Given the description of an element on the screen output the (x, y) to click on. 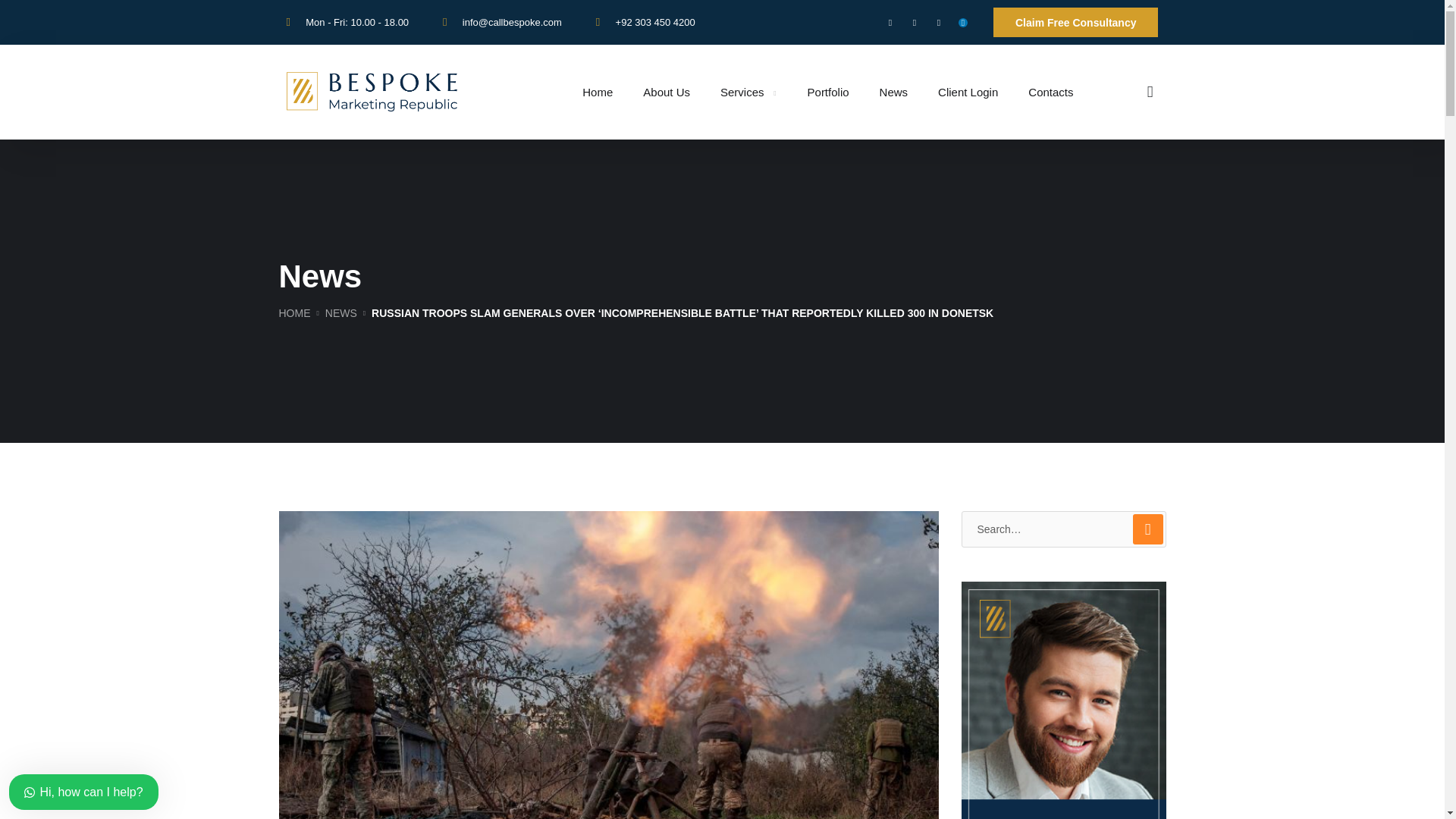
News (893, 92)
Home (597, 92)
Contacts (1050, 92)
Services (748, 92)
Client Login (967, 92)
Portfolio (828, 92)
About Us (666, 92)
Claim Free Consultancy (1075, 21)
